Given the description of an element on the screen output the (x, y) to click on. 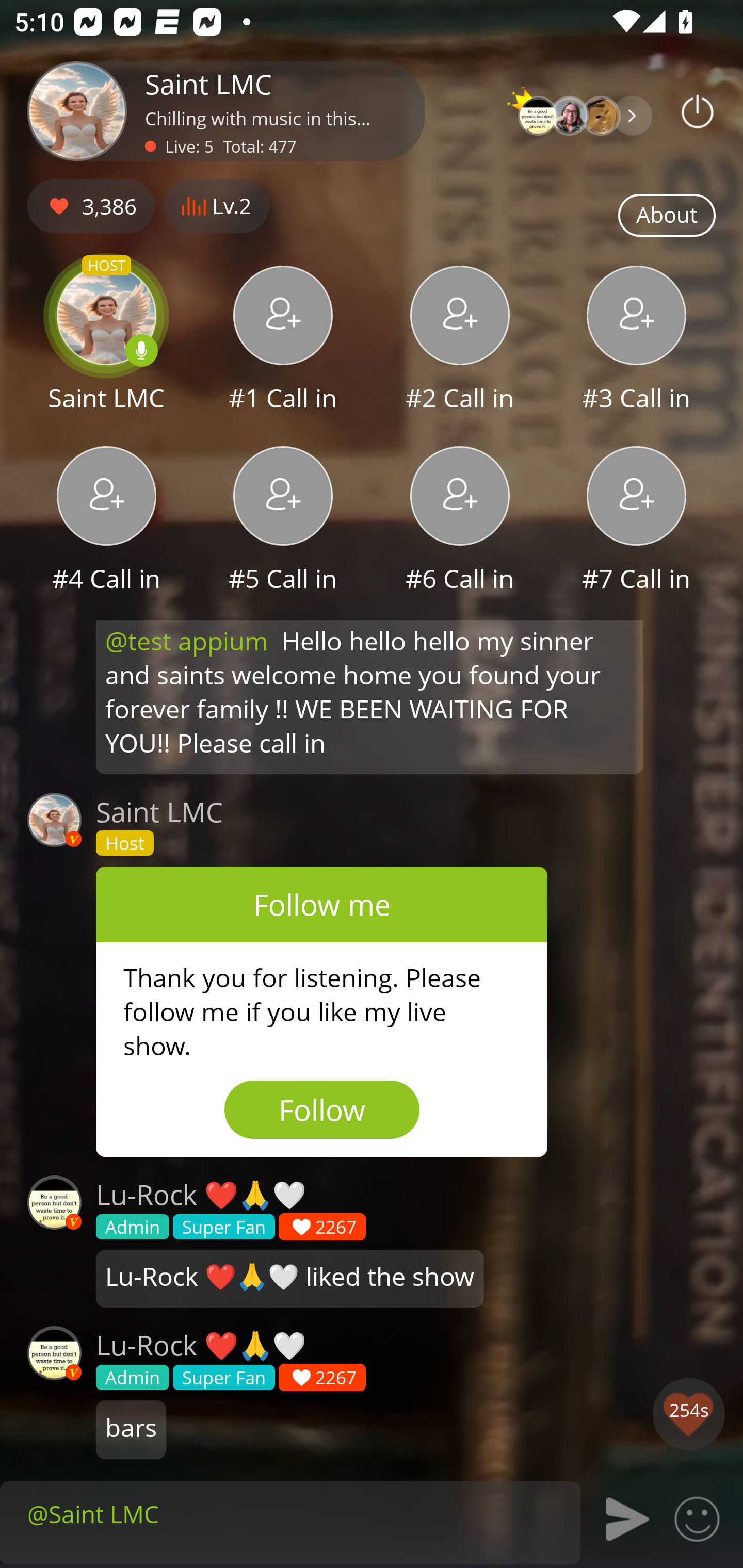
Podbean (697, 111)
About (666, 215)
HOST Saint LMC (105, 340)
#1 Call in (282, 340)
#2 Call in (459, 340)
#3 Call in (636, 340)
#4 Call in (105, 521)
#5 Call in (282, 521)
#6 Call in (459, 521)
#7 Call in (636, 521)
Follow (321, 1109)
@Saint LMC  (289, 1513)
